Given the description of an element on the screen output the (x, y) to click on. 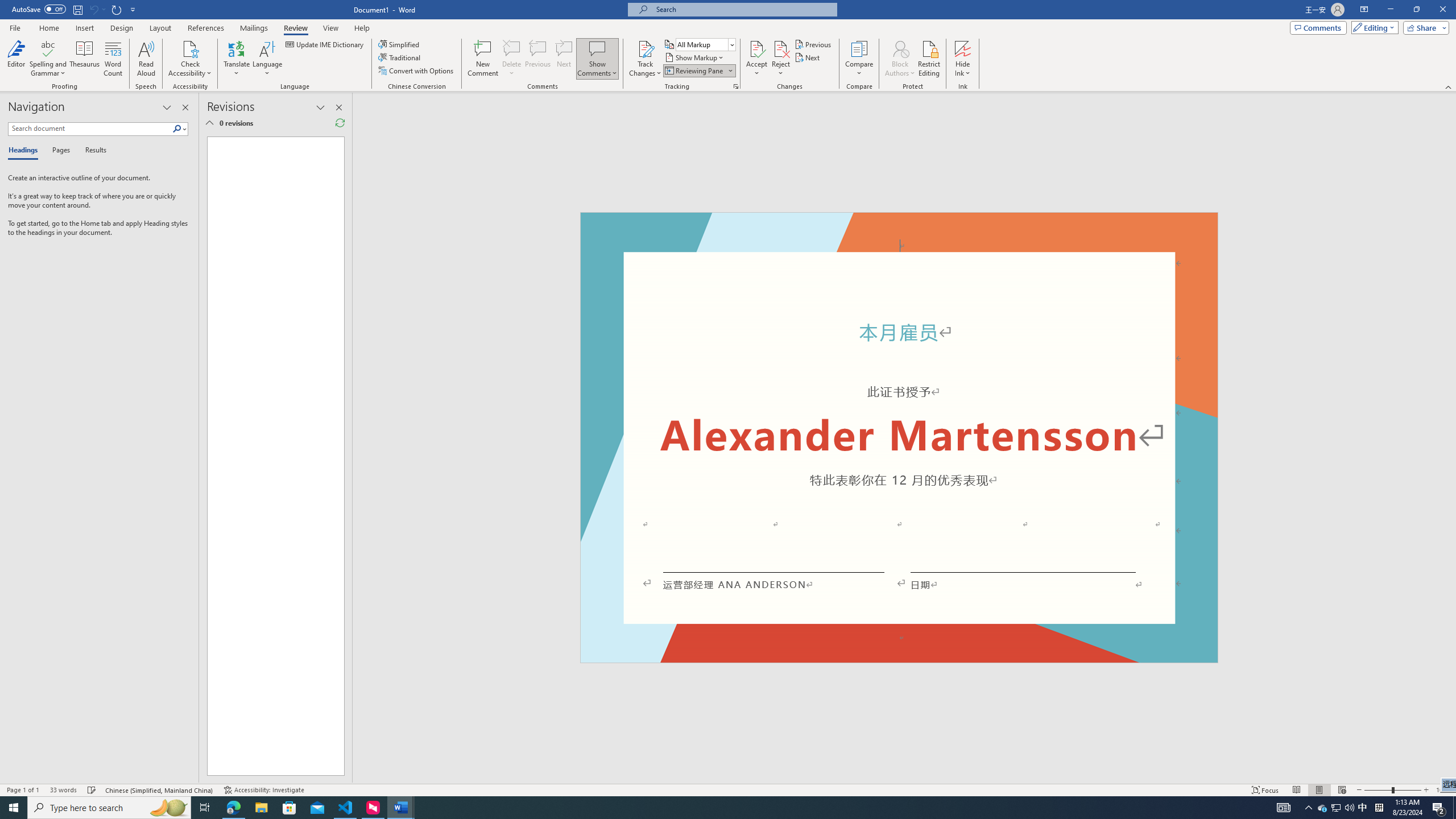
Reject (780, 58)
Update IME Dictionary... (324, 44)
Spelling and Grammar Check Checking (91, 790)
Footer -Section 1- (898, 657)
Accept and Move to Next (756, 48)
Class: MsoCommandBar (728, 789)
Translate (236, 58)
Zoom 100% (1443, 790)
Pages (59, 150)
Check Accessibility (189, 48)
